Given the description of an element on the screen output the (x, y) to click on. 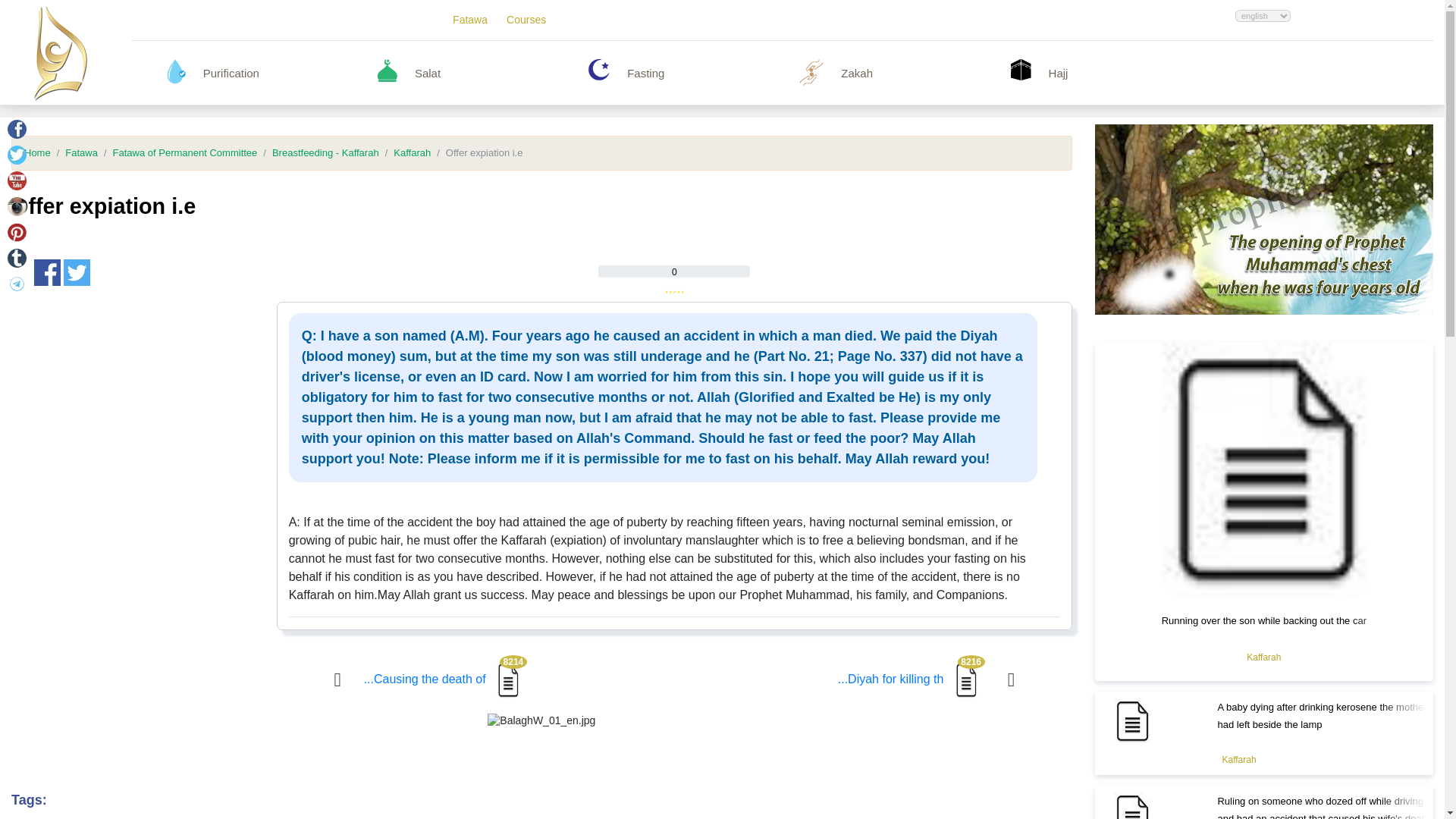
Running over the son while backing out the car (1264, 619)
Kaffarah (1263, 657)
Courses (525, 19)
Diyah for killing the fetus (911, 678)
Fatawa (73, 152)
Fasting (707, 73)
Hajj (1128, 73)
Salat (494, 73)
Causing the death of his brother and cousin (445, 678)
Kaffarah (1238, 759)
Purification (282, 73)
Fatawa (469, 19)
Home (37, 152)
